Given the description of an element on the screen output the (x, y) to click on. 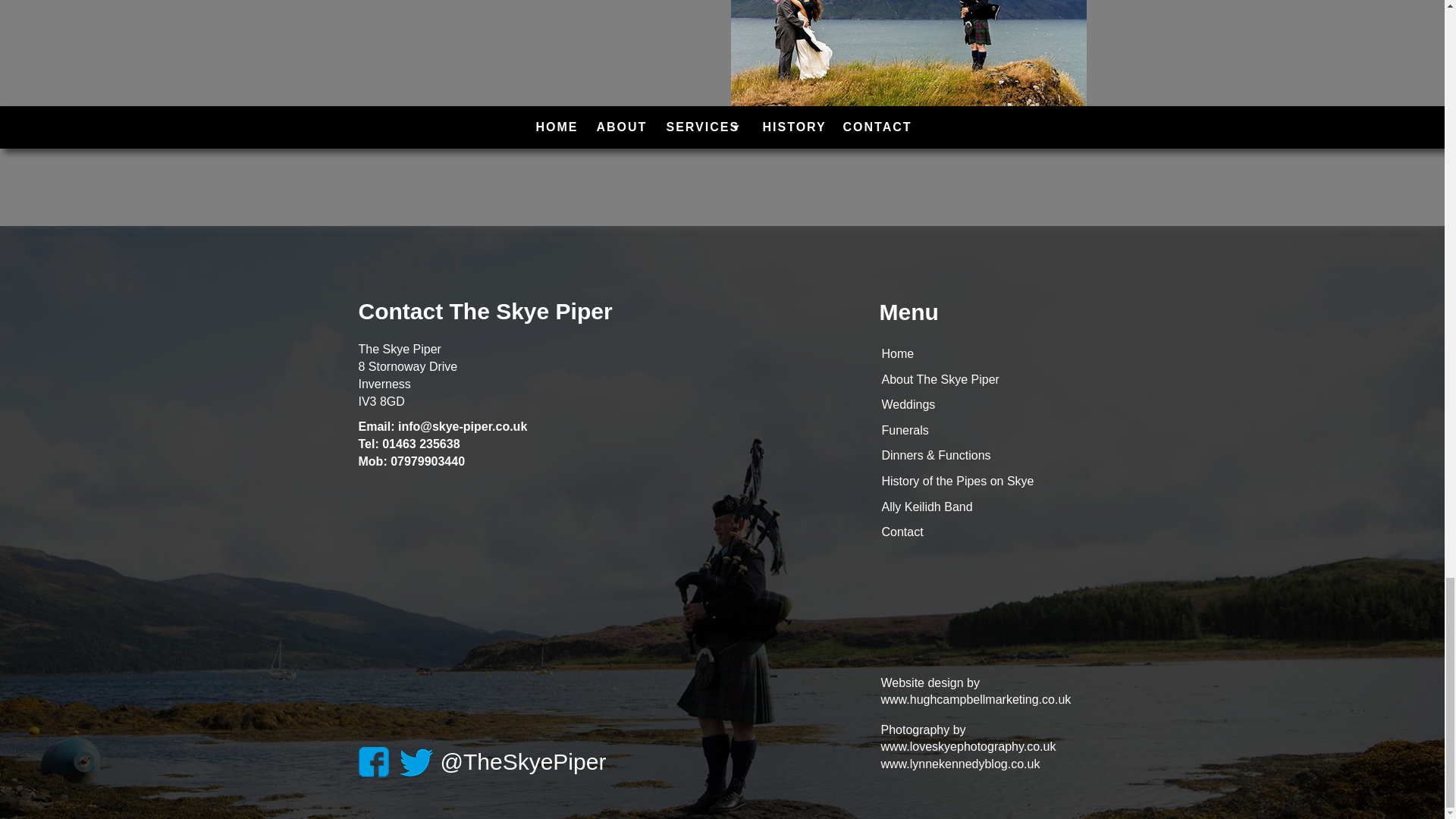
01463 235638 (420, 443)
Contact (901, 531)
Funerals (904, 430)
www.hughcampbellmarketing.co.uk (975, 698)
About The Skye Piper (939, 379)
Home (897, 353)
Weddings (907, 404)
History of the Pipes on Skye (956, 481)
07979903440 (427, 461)
Ally Keilidh Band (926, 506)
